Given the description of an element on the screen output the (x, y) to click on. 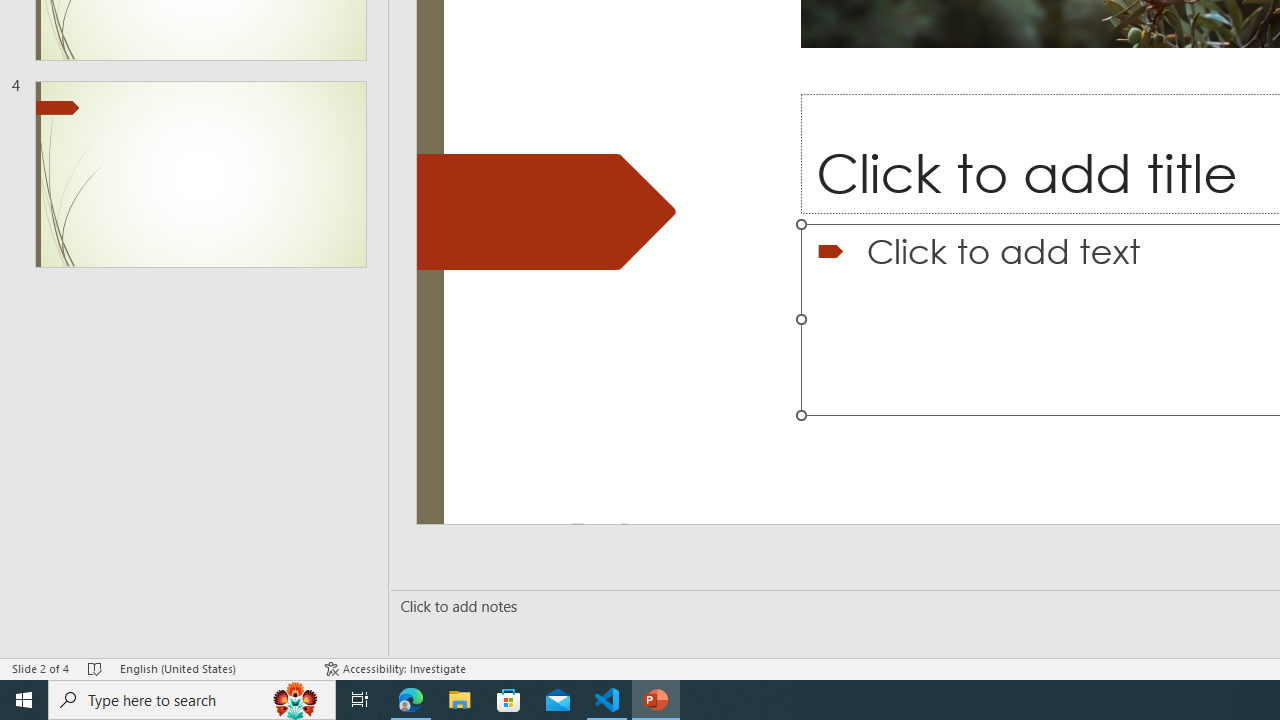
Slide (200, 174)
Accessibility Checker Accessibility: Investigate (395, 668)
Spell Check No Errors (95, 668)
Decorative Locked (546, 212)
